Given the description of an element on the screen output the (x, y) to click on. 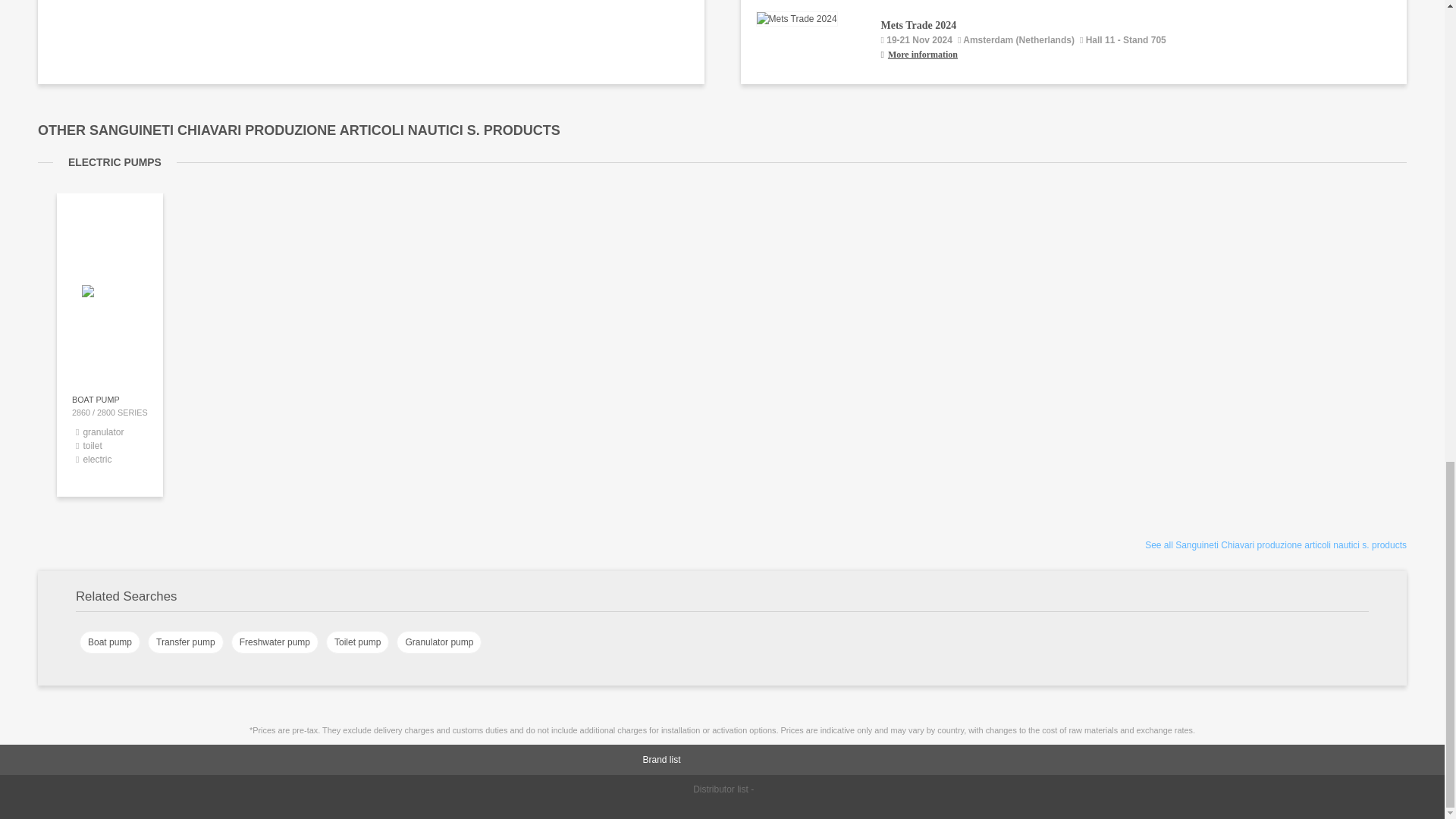
Boat pump (109, 641)
Brand list (745, 759)
 Distributor list - (722, 789)
Granulator pump (438, 641)
More information (1135, 54)
Freshwater pump (274, 641)
Toilet pump (357, 641)
Transfer pump (186, 641)
